Given the description of an element on the screen output the (x, y) to click on. 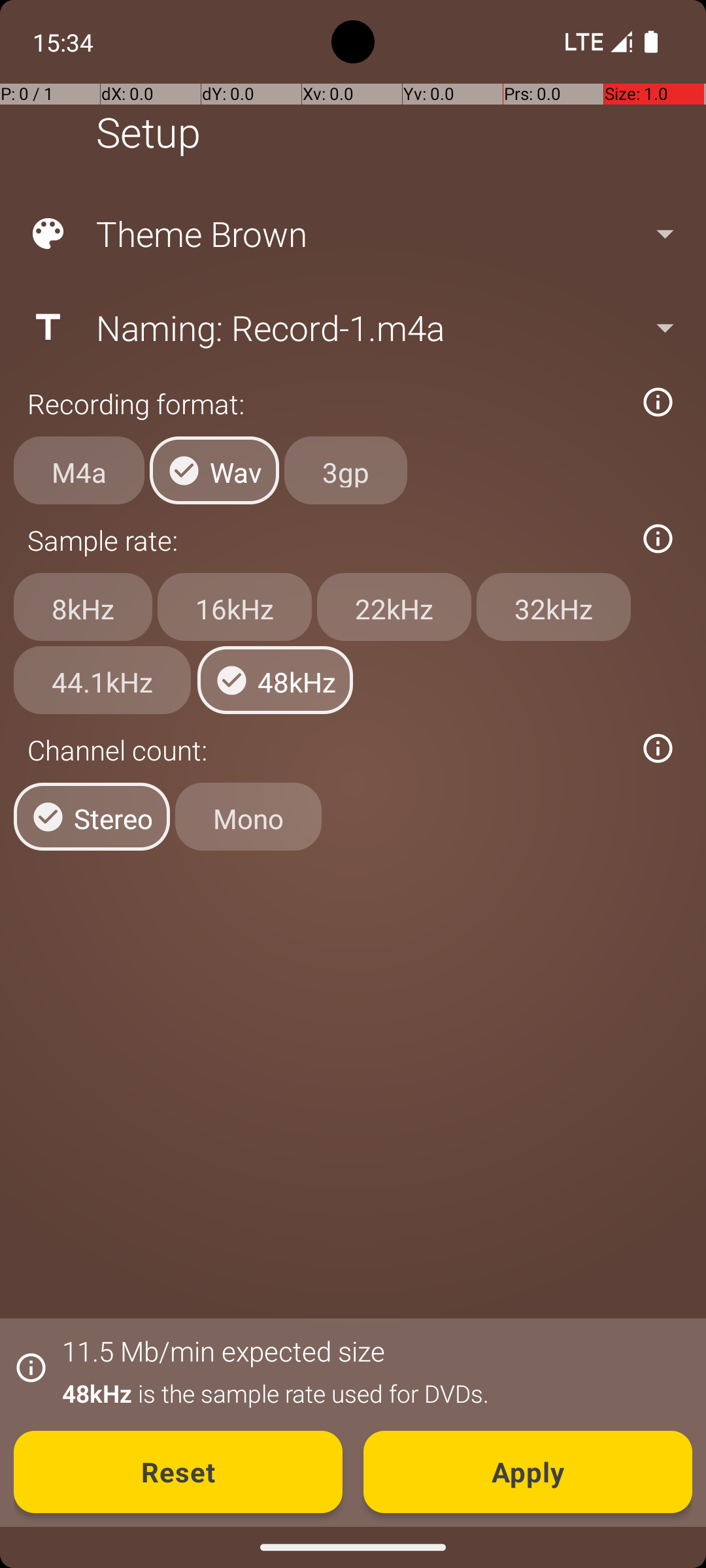
11.5 Mb/min expected size Element type: android.widget.TextView (223, 1350)
48kHz is the sample rate used for DVDs. Element type: android.widget.TextView (370, 1392)
Theme Brown Element type: android.widget.TextView (352, 233)
